Given the description of an element on the screen output the (x, y) to click on. 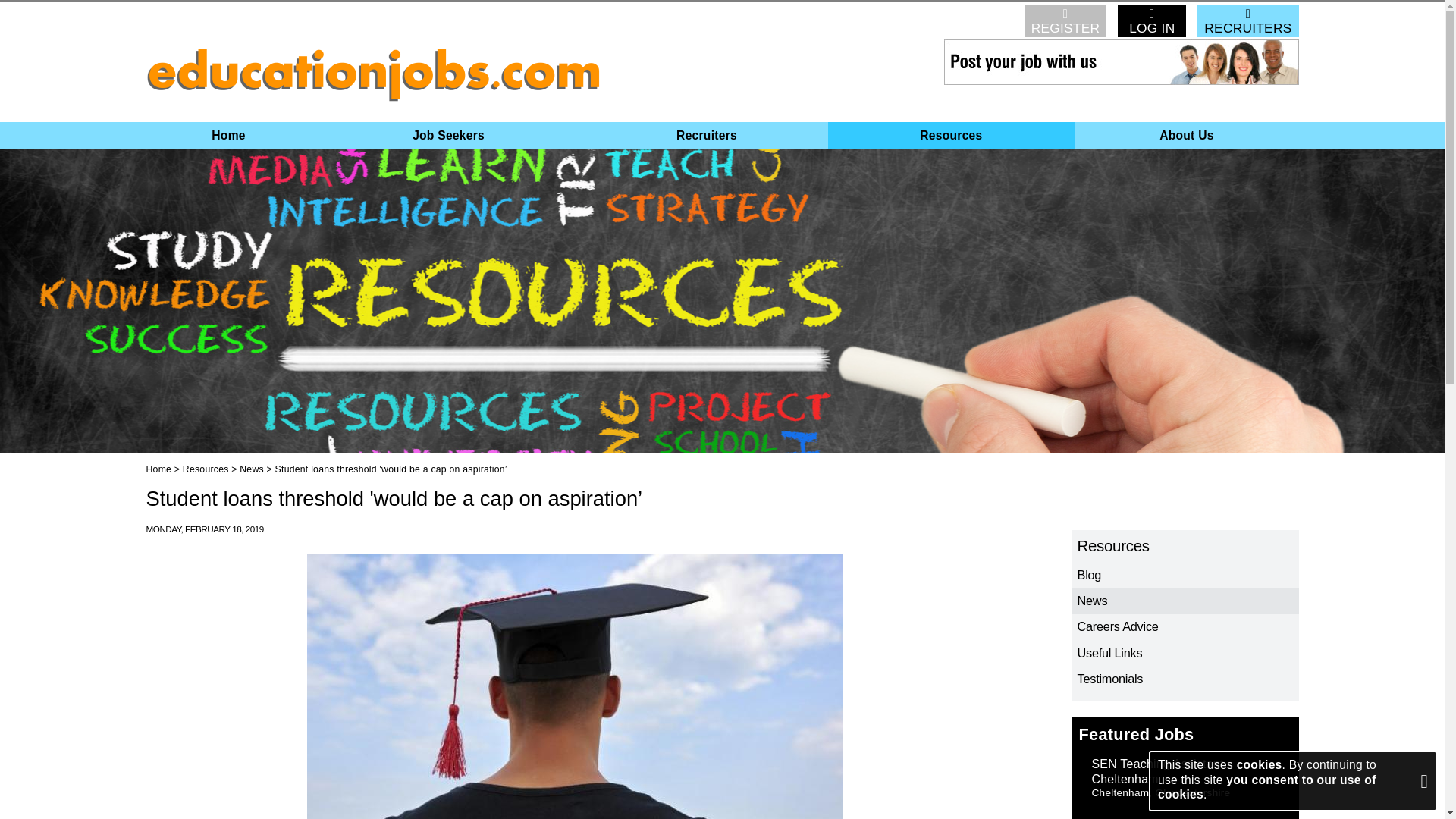
Home (158, 469)
REGISTER (1065, 20)
Testimonials (1184, 679)
Home (228, 135)
Job Seekers (448, 135)
RECRUITERS (1247, 20)
Useful Links (1184, 653)
SEN Teaching Assistant - Cheltenham (1161, 771)
Resources (205, 469)
Recruiters (706, 135)
Resources (1184, 545)
SEN Teaching Assistant - Cheltenham (1161, 771)
About Us (1186, 135)
Careers Advice (1184, 626)
News (251, 469)
